Given the description of an element on the screen output the (x, y) to click on. 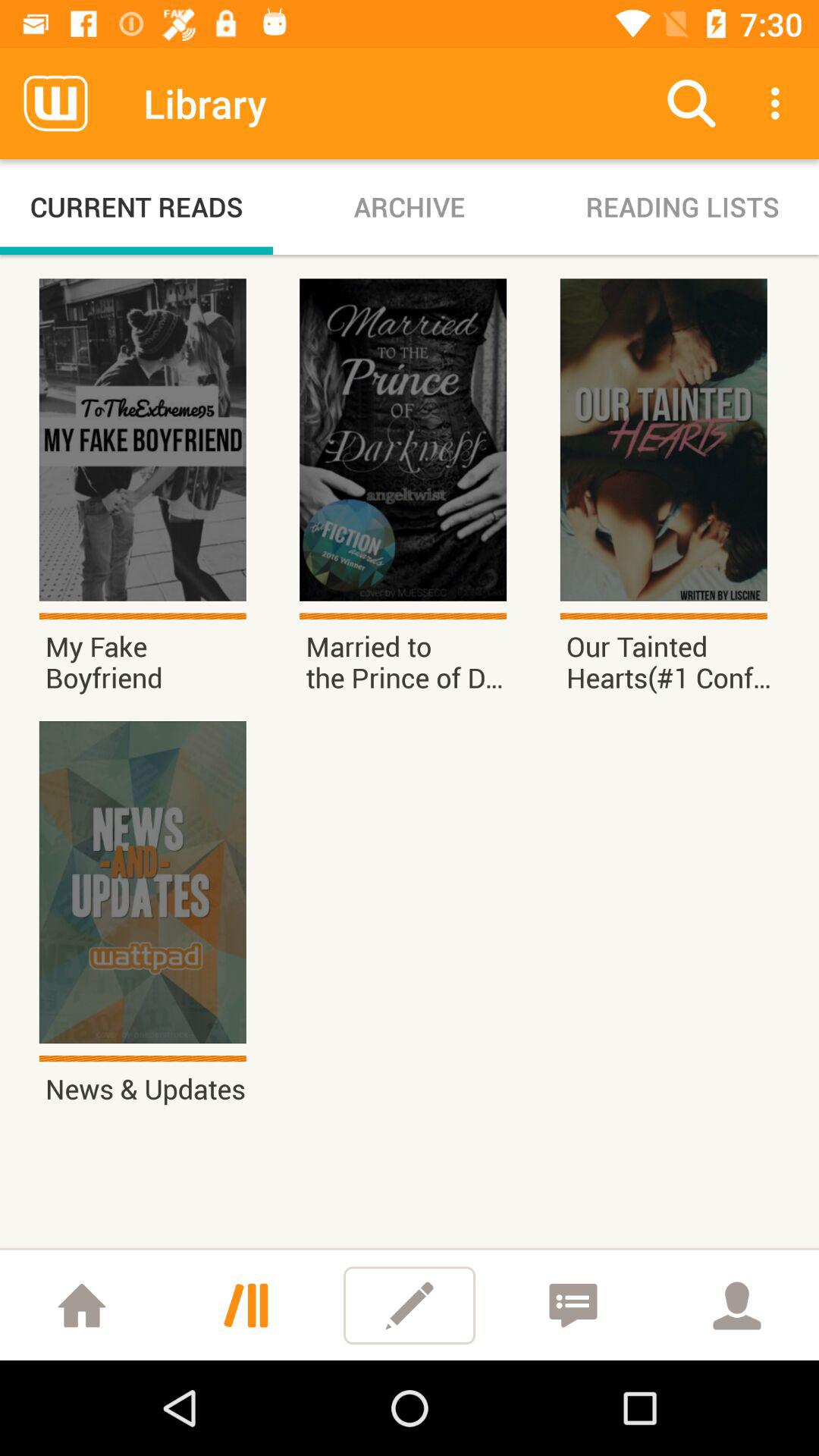
launch icon above the reading lists (779, 103)
